Given the description of an element on the screen output the (x, y) to click on. 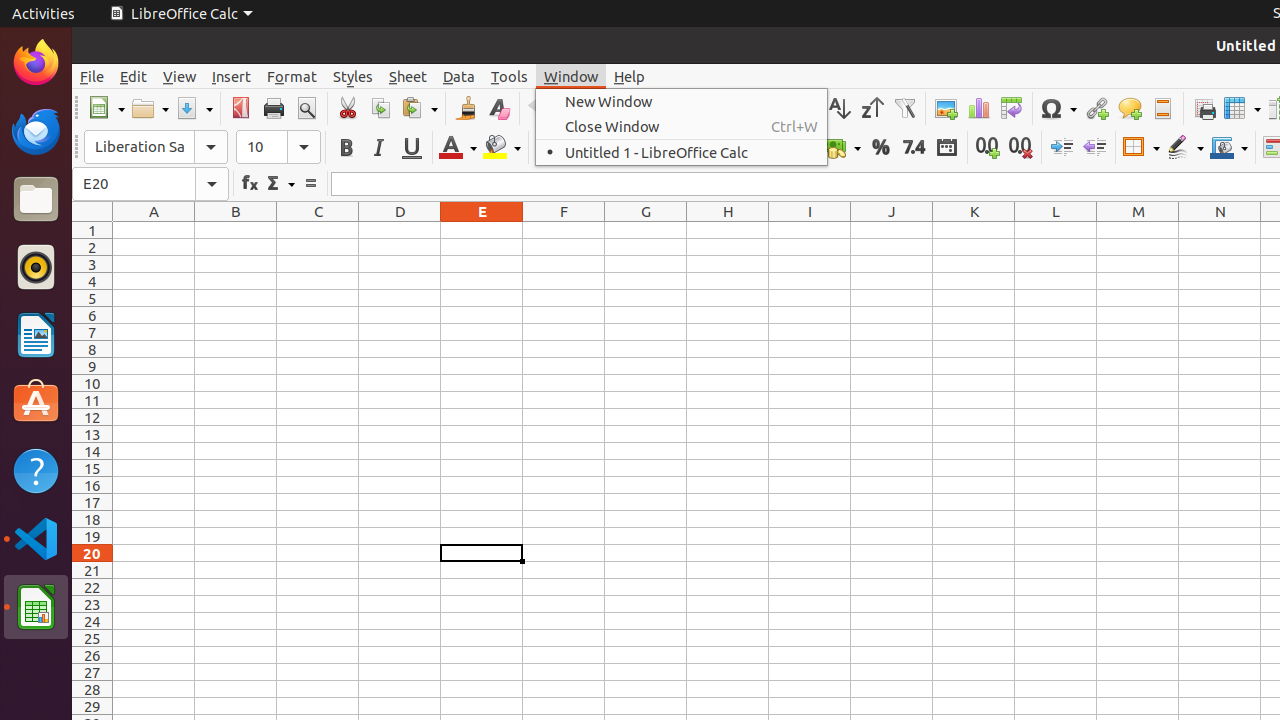
Formula Element type: push-button (310, 183)
Clear Element type: push-button (498, 108)
Save Element type: push-button (194, 108)
Underline Element type: push-button (411, 147)
I1 Element type: table-cell (810, 230)
